Given the description of an element on the screen output the (x, y) to click on. 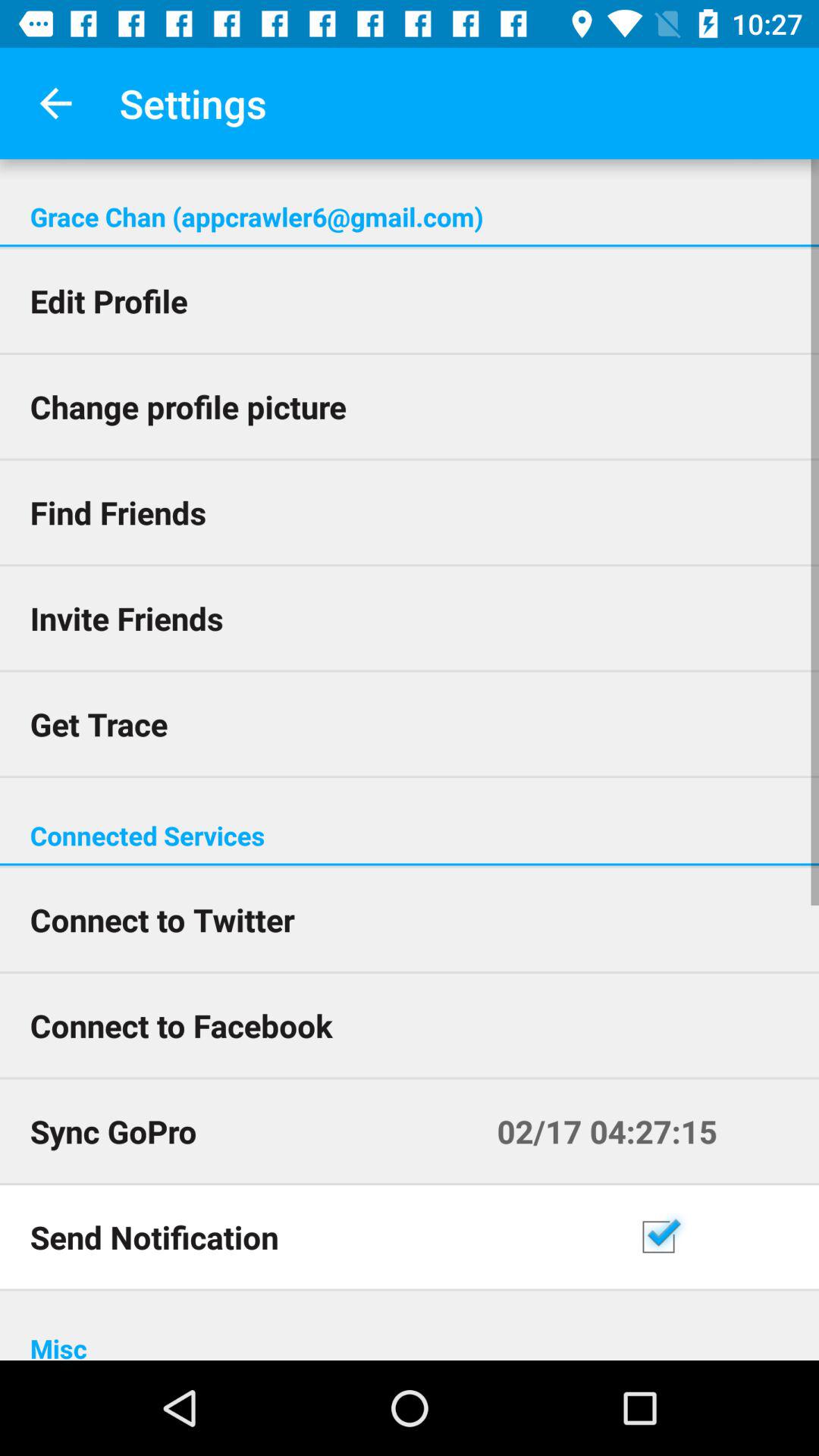
launch the connected services icon (409, 835)
